Given the description of an element on the screen output the (x, y) to click on. 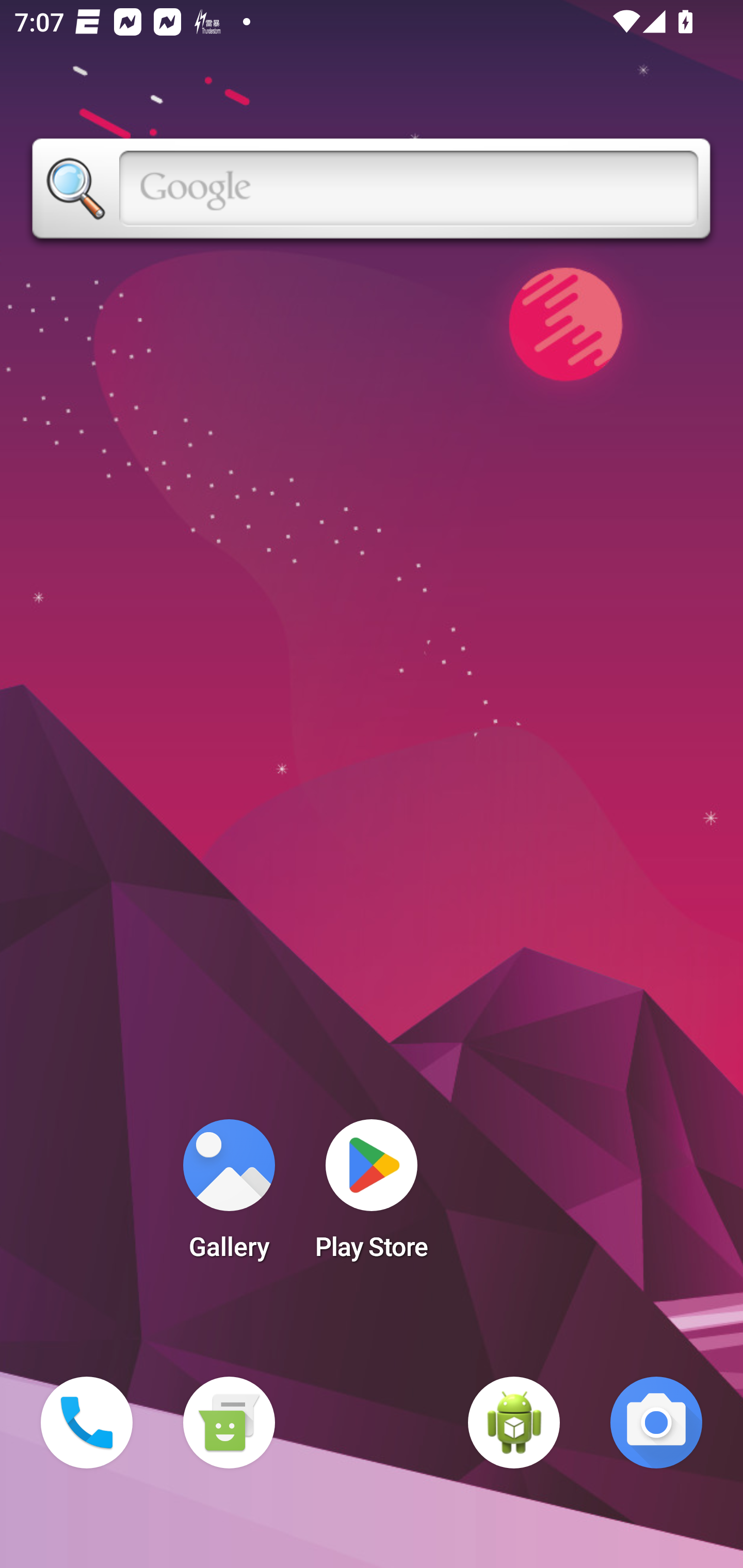
Gallery (228, 1195)
Play Store (371, 1195)
Phone (86, 1422)
Messaging (228, 1422)
WebView Browser Tester (513, 1422)
Camera (656, 1422)
